Given the description of an element on the screen output the (x, y) to click on. 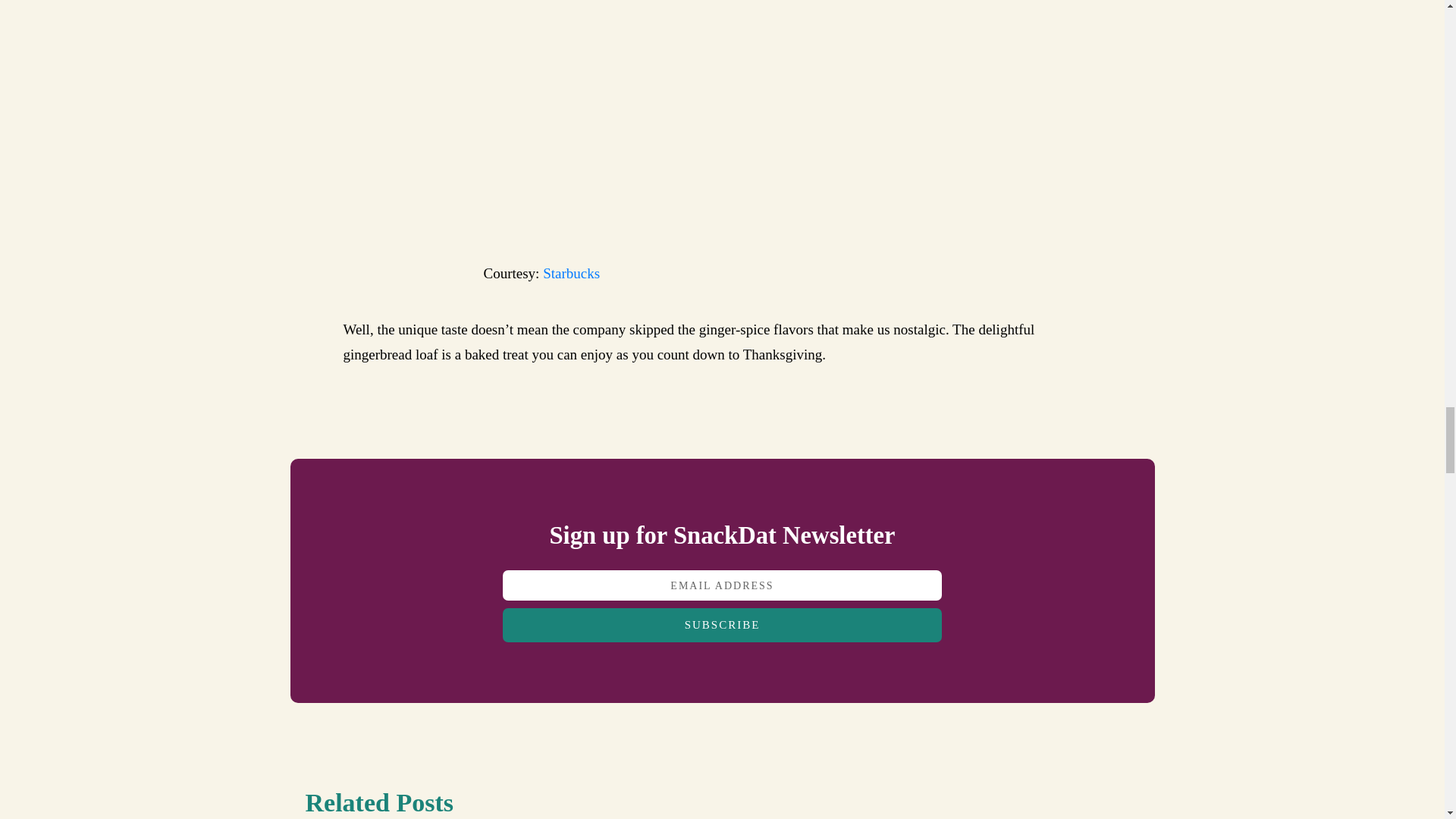
Starbucks (571, 273)
SUBSCRIBE (722, 625)
